Given the description of an element on the screen output the (x, y) to click on. 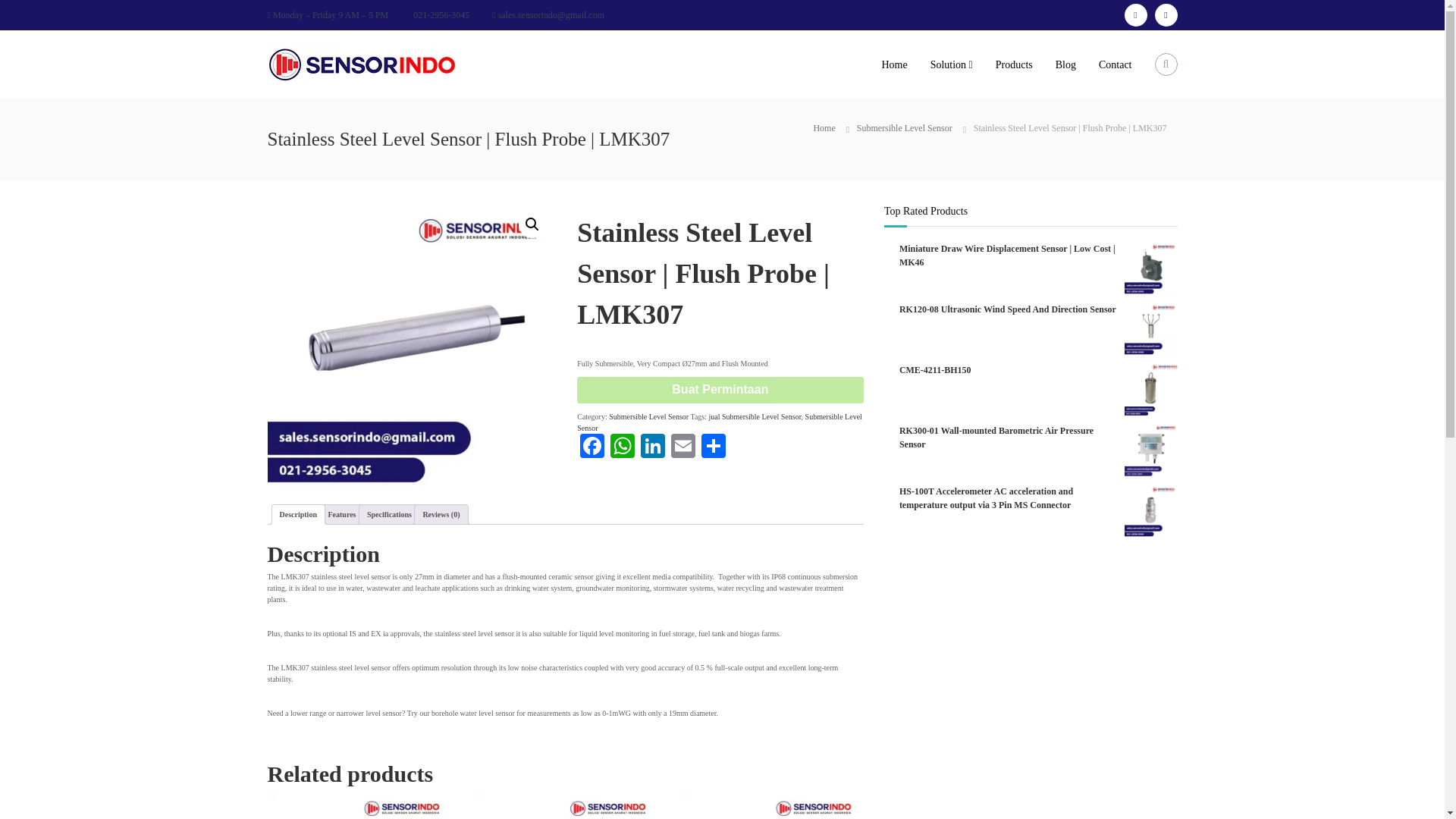
Home (823, 127)
Submersible Level Sensor (648, 416)
Blog (1065, 64)
Specifications (389, 514)
WhatsApp (622, 447)
Email (683, 447)
Contact (1115, 64)
Facebook (591, 447)
Features (341, 514)
Stainless Steel Level Sensor Flush Probe LMK307 (409, 345)
Facebook (591, 447)
Home (893, 64)
Solution (948, 64)
Facebook (1135, 15)
Submersible Level Sensor (904, 127)
